Given the description of an element on the screen output the (x, y) to click on. 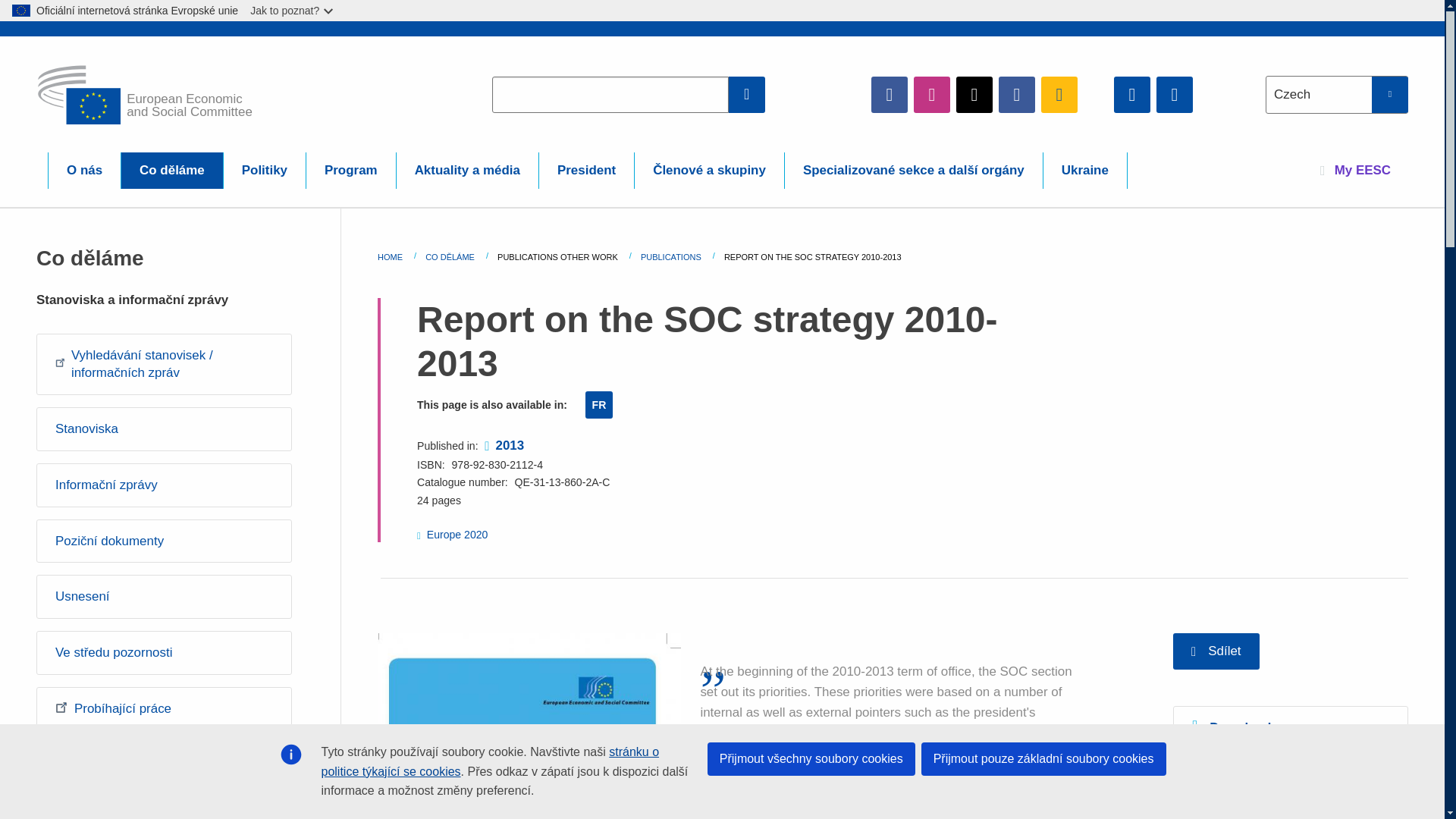
Jak to poznat? (293, 10)
My EESC (1355, 170)
Search EESC Website (747, 94)
